Given the description of an element on the screen output the (x, y) to click on. 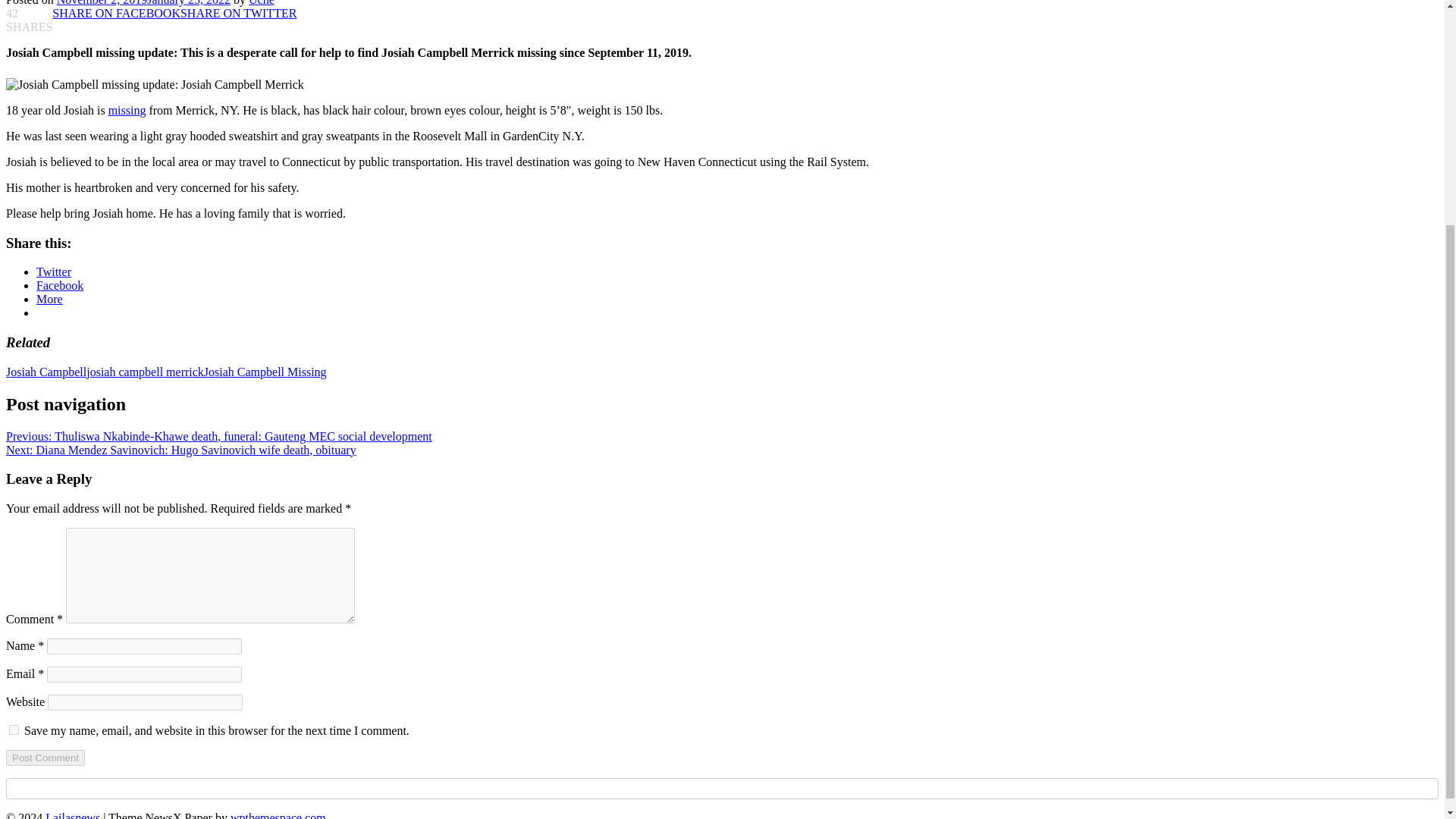
November 2, 2019January 23, 2022 (143, 2)
Click to share on Facebook (59, 285)
SHARE ON TWITTER (238, 12)
Facebook (59, 285)
Click to share on Twitter (53, 271)
Josiah Campbell Missing (264, 371)
Josiah Campbell (45, 371)
Twitter (53, 271)
